Given the description of an element on the screen output the (x, y) to click on. 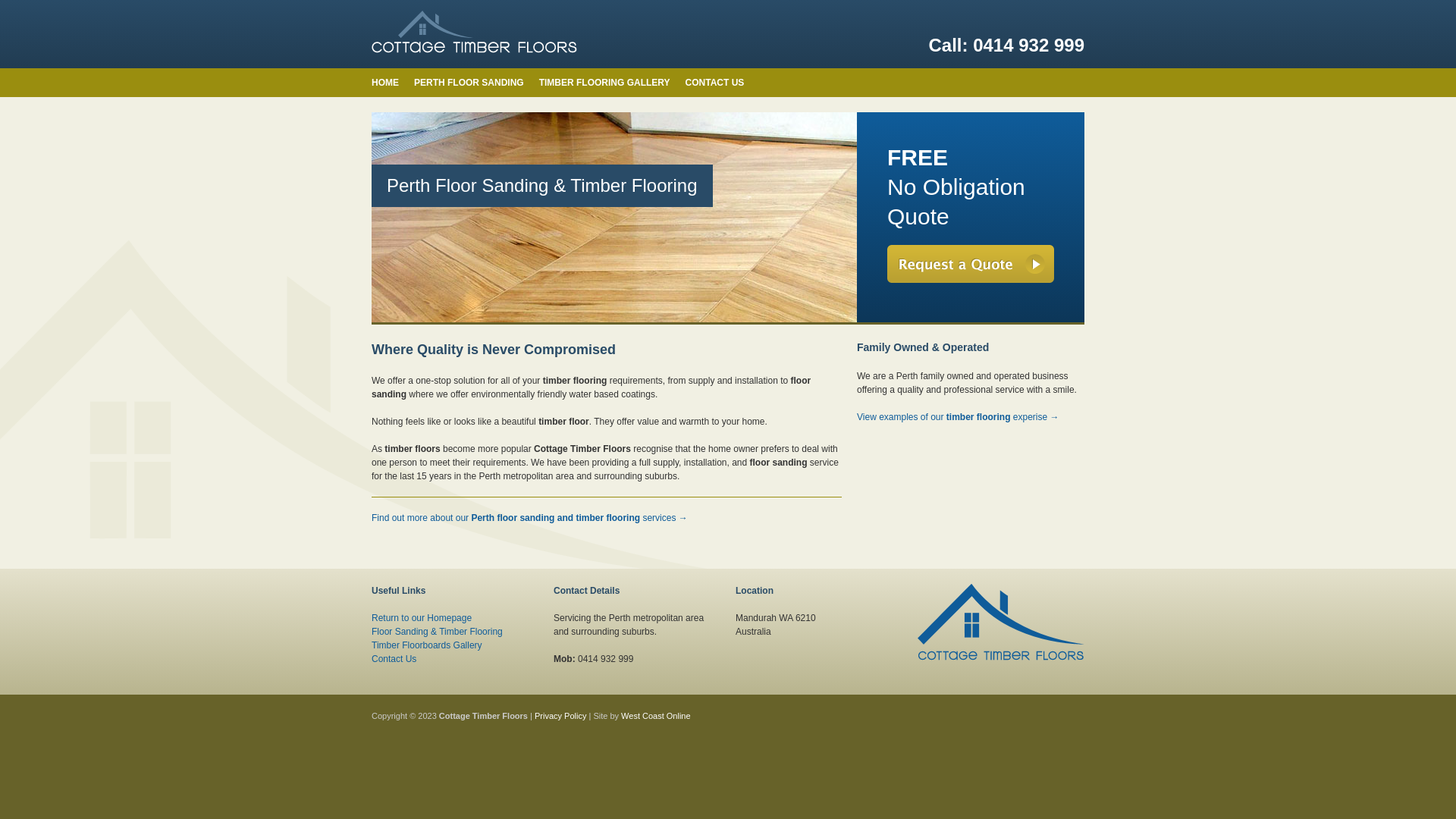
CONTACT US Element type: text (714, 82)
West Coast Online Element type: text (655, 715)
Contact Us Element type: text (393, 658)
Request a free no obligation timber floor sanding quote. Element type: hover (970, 262)
Timber Floorboards Gallery Element type: text (426, 645)
PERTH FLOOR SANDING Element type: text (469, 82)
Privacy Policy Element type: text (560, 715)
Return to our Homepage Element type: text (421, 617)
HOME Element type: text (384, 82)
Return to our homepage. Element type: hover (1000, 628)
Floor Sanding & Timber Flooring Element type: text (436, 631)
TIMBER FLOORING GALLERY Element type: text (604, 82)
